Given the description of an element on the screen output the (x, y) to click on. 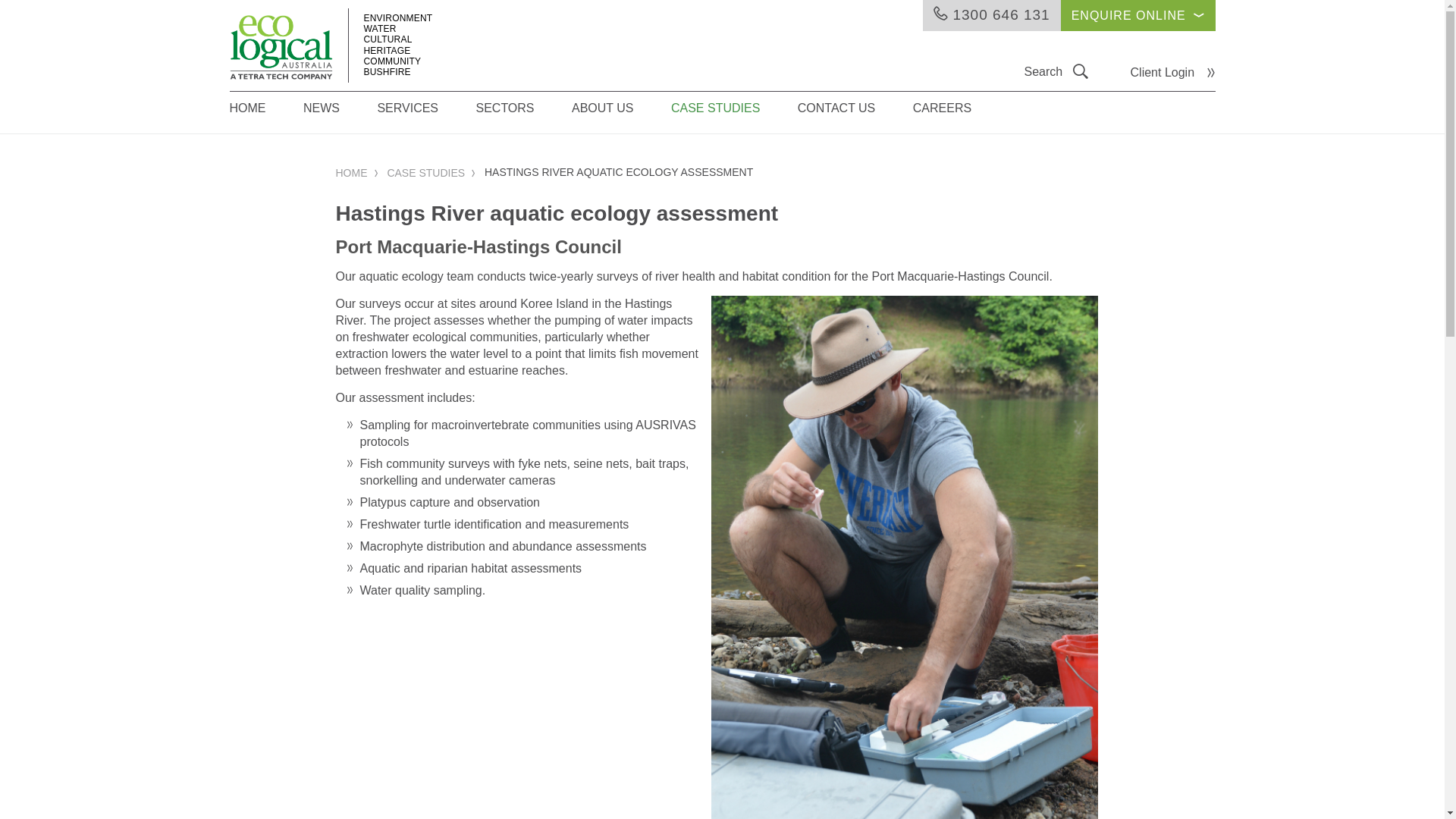
CONTACT US Element type: text (853, 112)
NEWS Element type: text (338, 112)
CASE STUDIES Element type: text (732, 112)
HOME Element type: text (357, 173)
SERVICES Element type: text (424, 112)
HOME Element type: text (264, 112)
ABOUT US Element type: text (619, 112)
ENVIRONMENT WATER
CULTURAL HERITAGE COMMUNITY BUSHFIRE Element type: text (280, 39)
CASE STUDIES Element type: text (431, 173)
1300 646 131 Element type: text (991, 15)
CAREERS Element type: text (959, 112)
Client Login Element type: text (1172, 71)
SECTORS Element type: text (521, 112)
ENQUIRE ONLINE Element type: text (1137, 15)
